Given the description of an element on the screen output the (x, y) to click on. 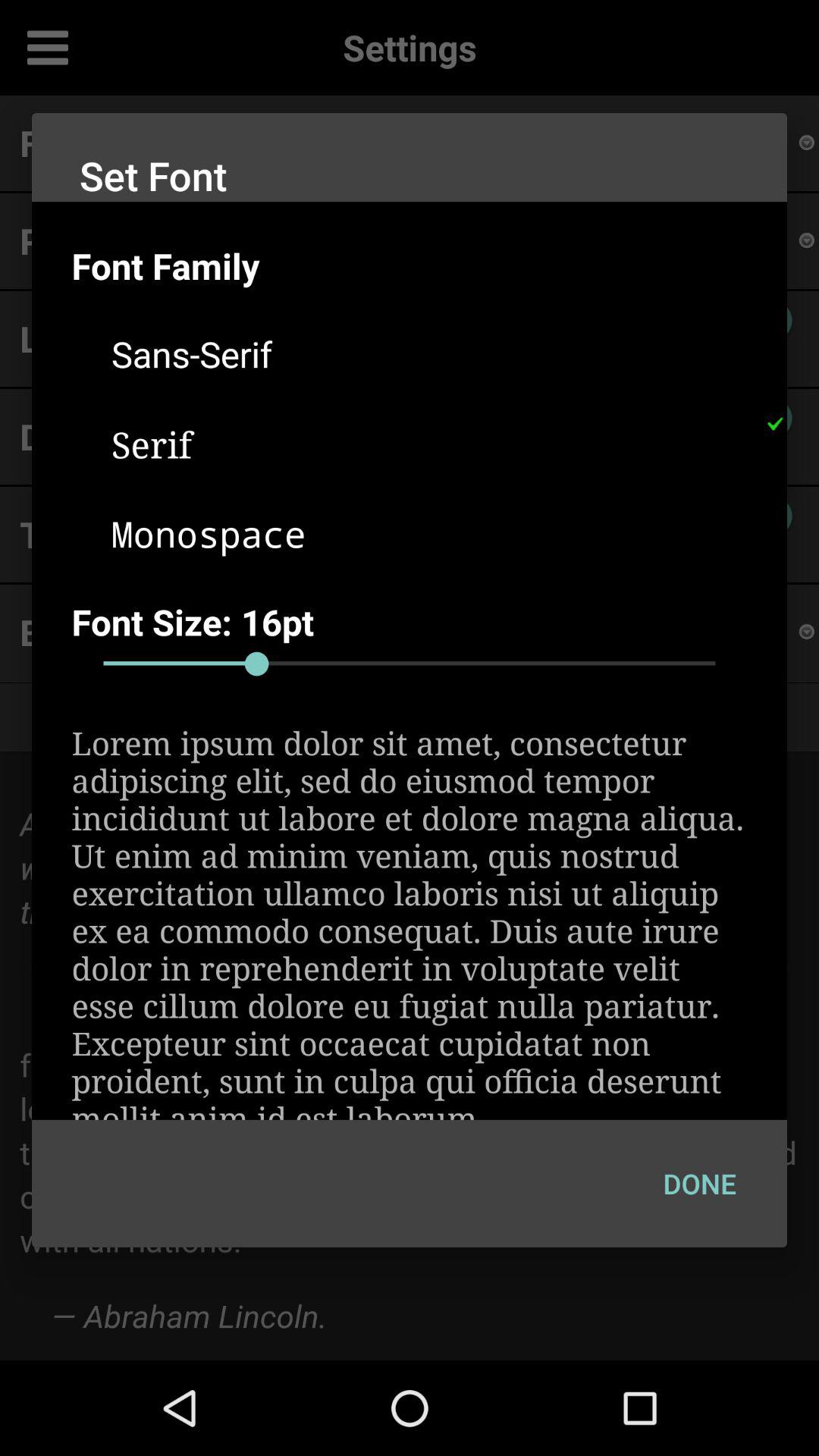
select the font family item (429, 265)
